Given the description of an element on the screen output the (x, y) to click on. 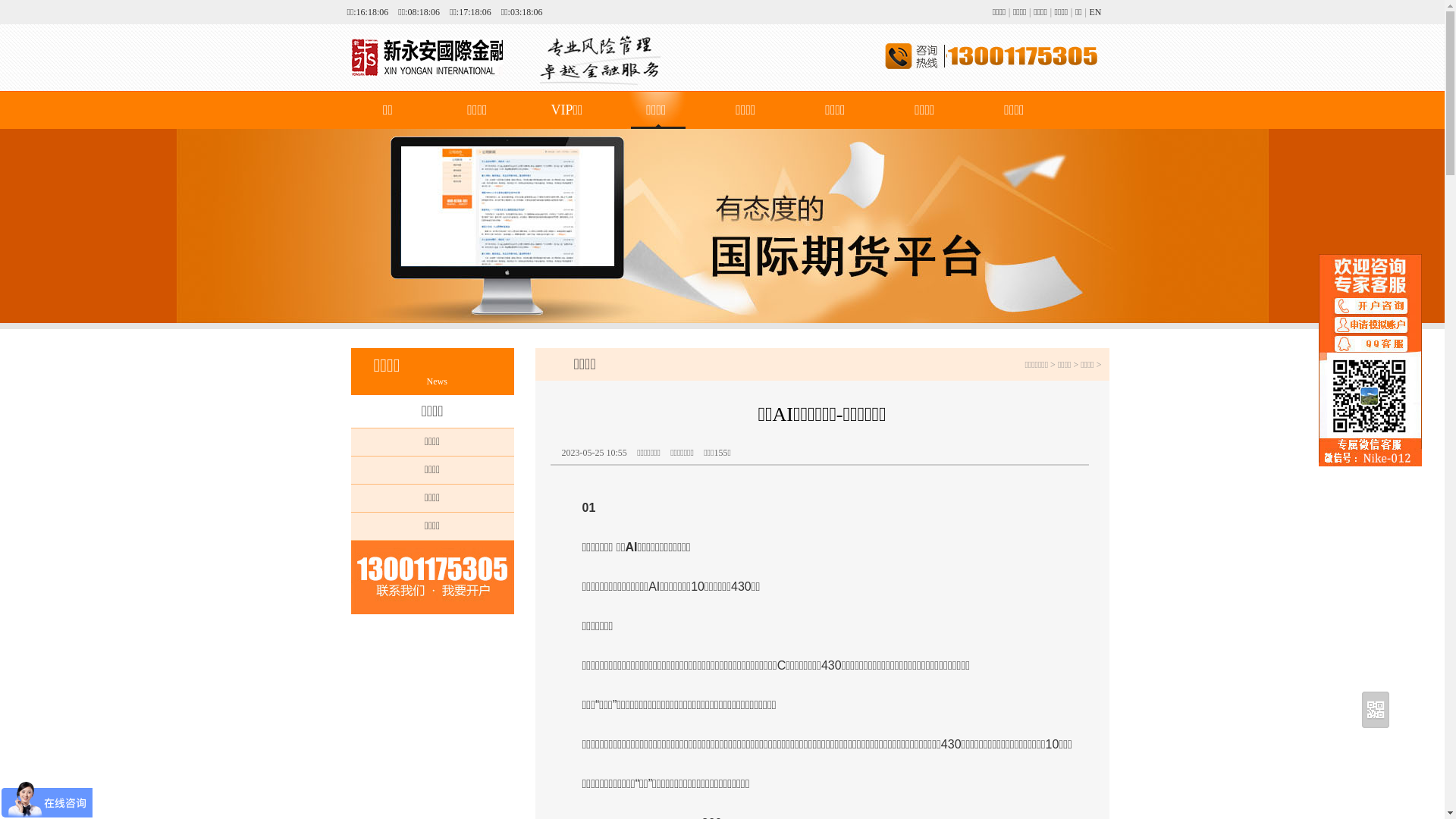
EN Element type: text (1094, 11)
